Given the description of an element on the screen output the (x, y) to click on. 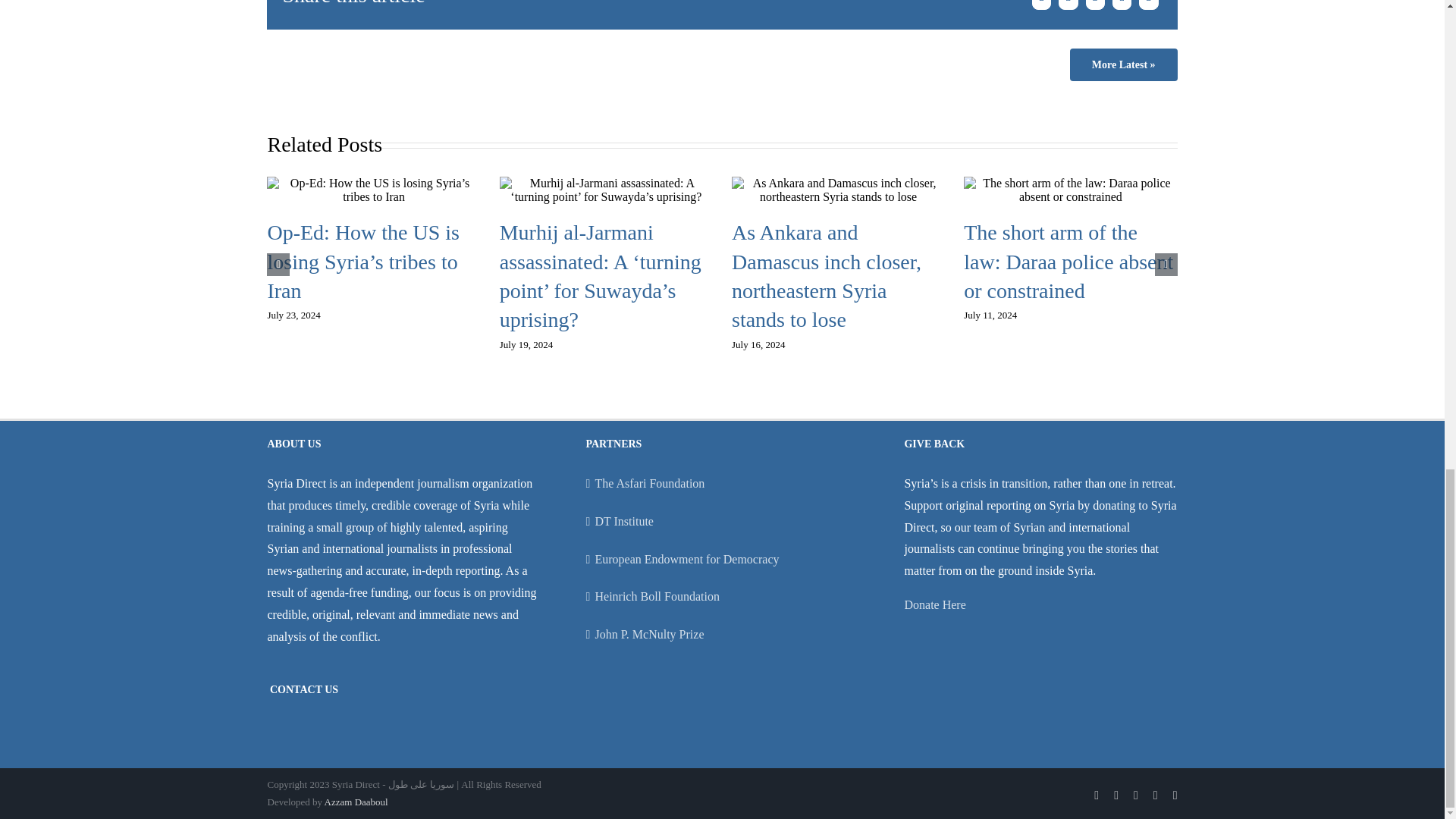
The short arm of the law: Daraa police absent or constrained (1068, 261)
WhatsApp (1121, 6)
LinkedIn (1094, 6)
Telegram (1148, 6)
X (1067, 6)
Facebook (1040, 6)
